Given the description of an element on the screen output the (x, y) to click on. 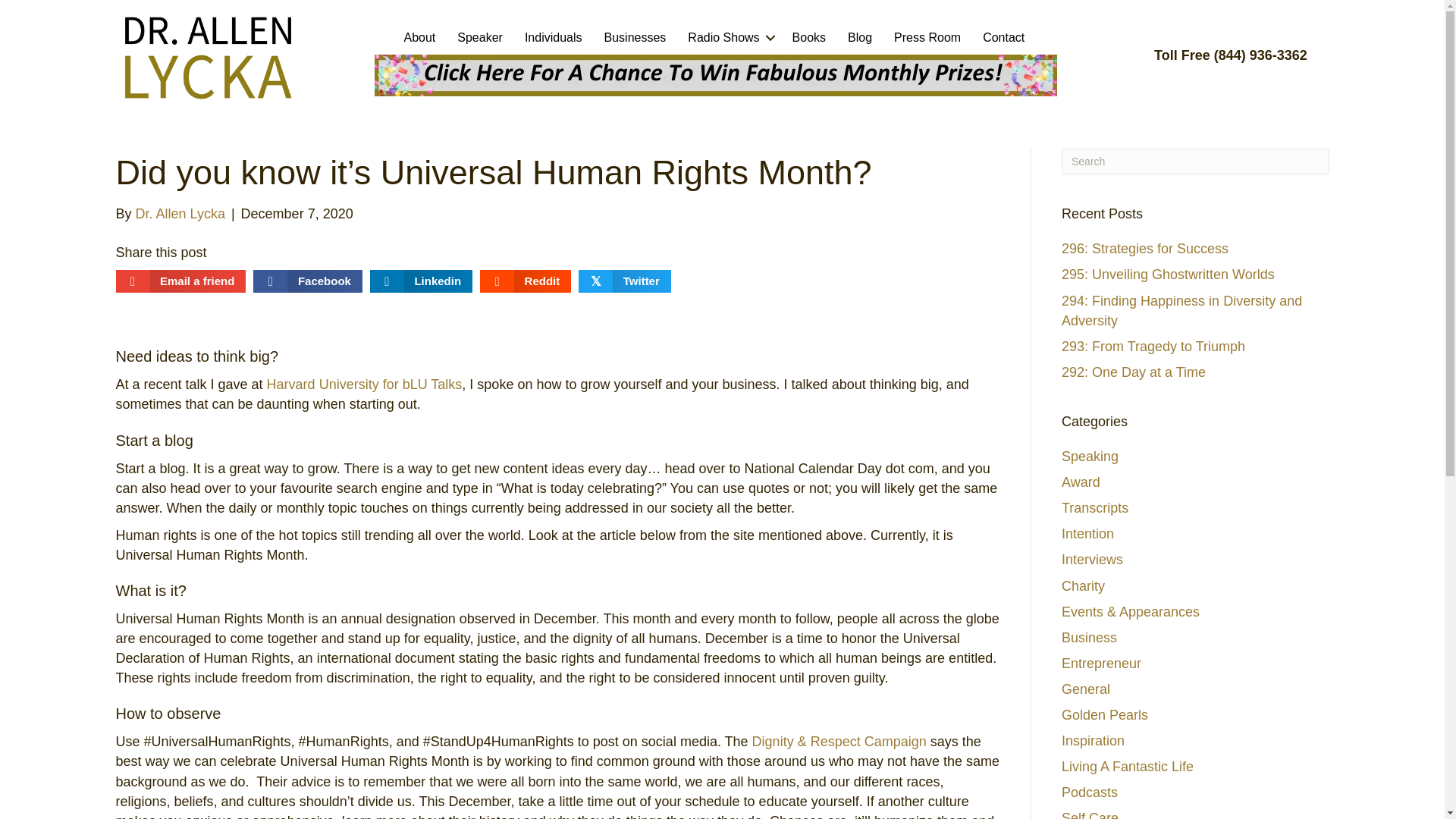
dr-lycka-logo black gold (208, 57)
Email a friend (180, 281)
Contact (1003, 37)
What is it? (150, 590)
Reddit (525, 281)
Press Room (927, 37)
Facebook (307, 281)
Blog (859, 37)
Dr. Allen Lycka (180, 213)
296: Strategies for Success (1144, 248)
Businesses (634, 37)
Award (1080, 482)
About (419, 37)
Individuals (552, 37)
Books (808, 37)
